Given the description of an element on the screen output the (x, y) to click on. 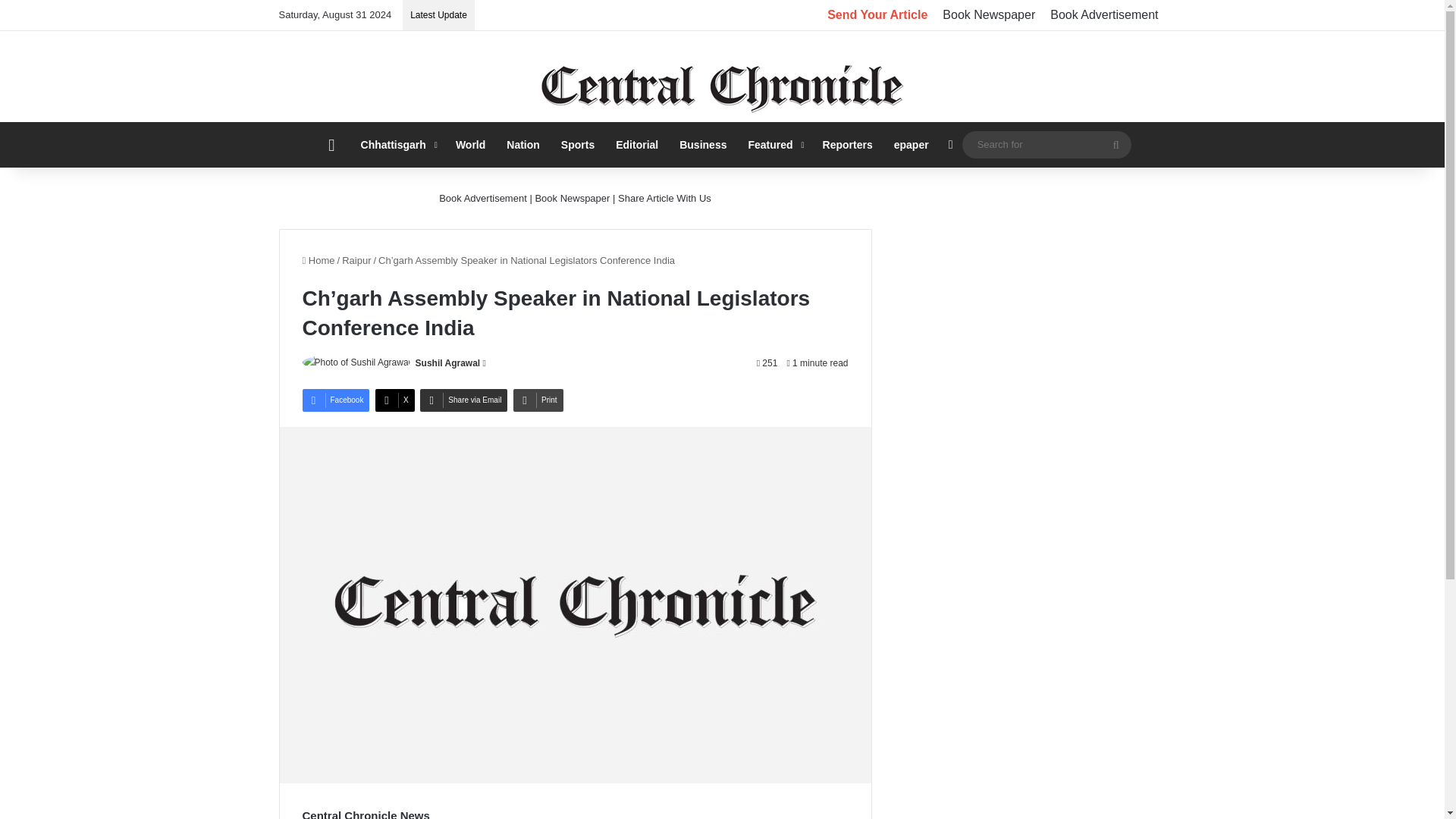
Sushil Agrawal (447, 362)
World (470, 144)
Central Chronicle (722, 87)
X (394, 400)
Book Newspaper (988, 15)
Sports (577, 144)
Search for (1046, 144)
Reporters (847, 144)
Share via Email (463, 400)
Chhattisgarh (397, 144)
